Given the description of an element on the screen output the (x, y) to click on. 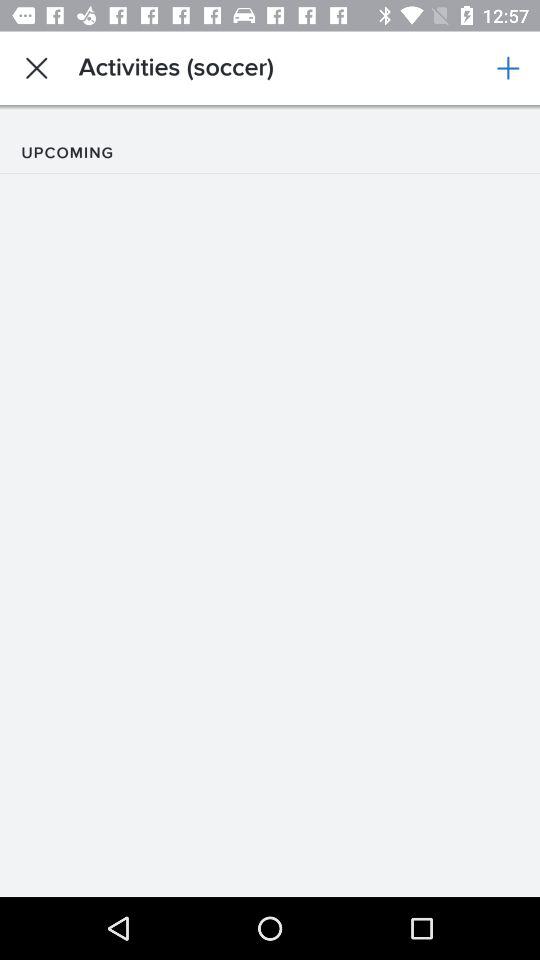
select item to the right of activities (soccer) (508, 67)
